Given the description of an element on the screen output the (x, y) to click on. 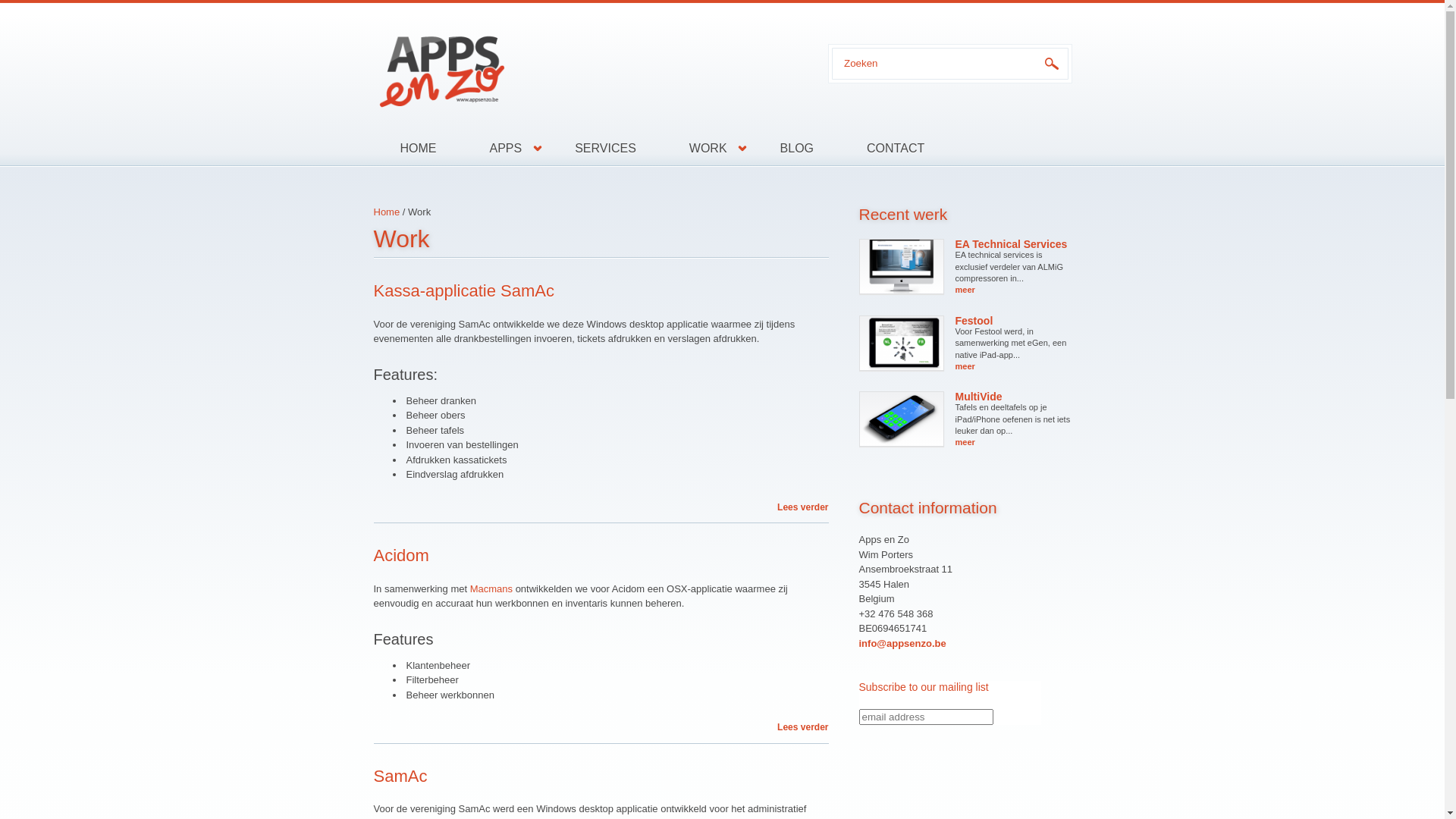
Macmans Element type: text (491, 588)
meer Element type: text (965, 365)
Overslaan en naar de inhoud gaan Element type: text (75, 2)
MultiVide Element type: hover (901, 418)
Lees verder
over Kassa-applicatie SamAc Element type: text (802, 507)
HOME Element type: text (417, 148)
MultiVide Element type: text (978, 396)
Home Element type: text (386, 211)
WORK Element type: text (707, 148)
Kassa-applicatie SamAc Element type: text (463, 290)
CONTACT Element type: text (882, 148)
SERVICES Element type: text (605, 148)
SamAc Element type: text (399, 775)
meer Element type: text (965, 289)
Festool Element type: text (974, 320)
APPS Element type: text (505, 148)
info@appsenzo.be Element type: text (901, 643)
Acidom Element type: text (400, 555)
meer Element type: text (965, 441)
Home Element type: hover (585, 67)
Subscribe Element type: text (895, 736)
Lees verder
over Acidom Element type: text (802, 726)
EA Technical Services Element type: text (1011, 244)
BLOG Element type: text (796, 148)
